Given the description of an element on the screen output the (x, y) to click on. 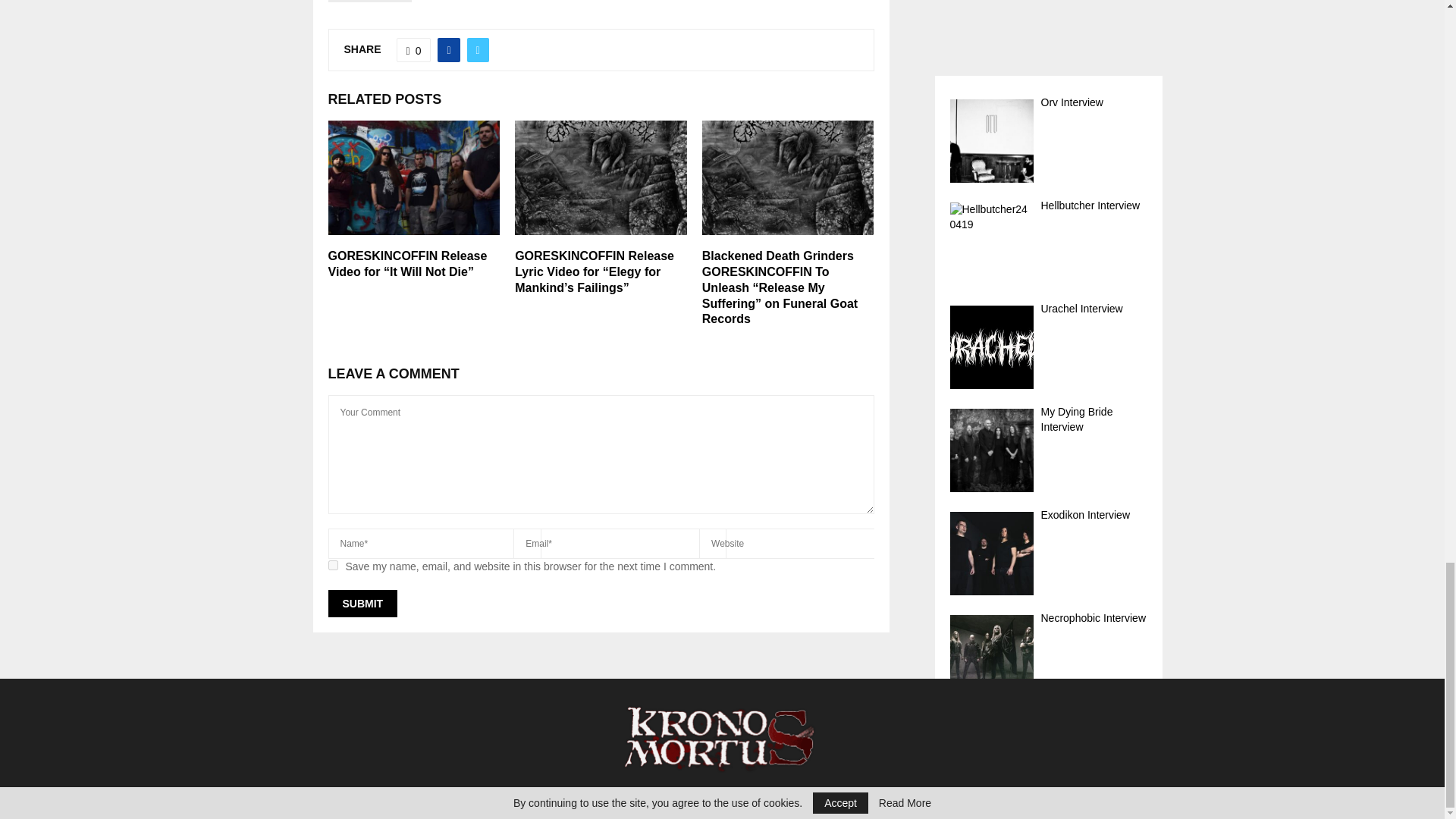
Submit (362, 603)
0 (413, 49)
yes (332, 565)
GORESKINCOFFIN (369, 1)
Like (413, 49)
